Given the description of an element on the screen output the (x, y) to click on. 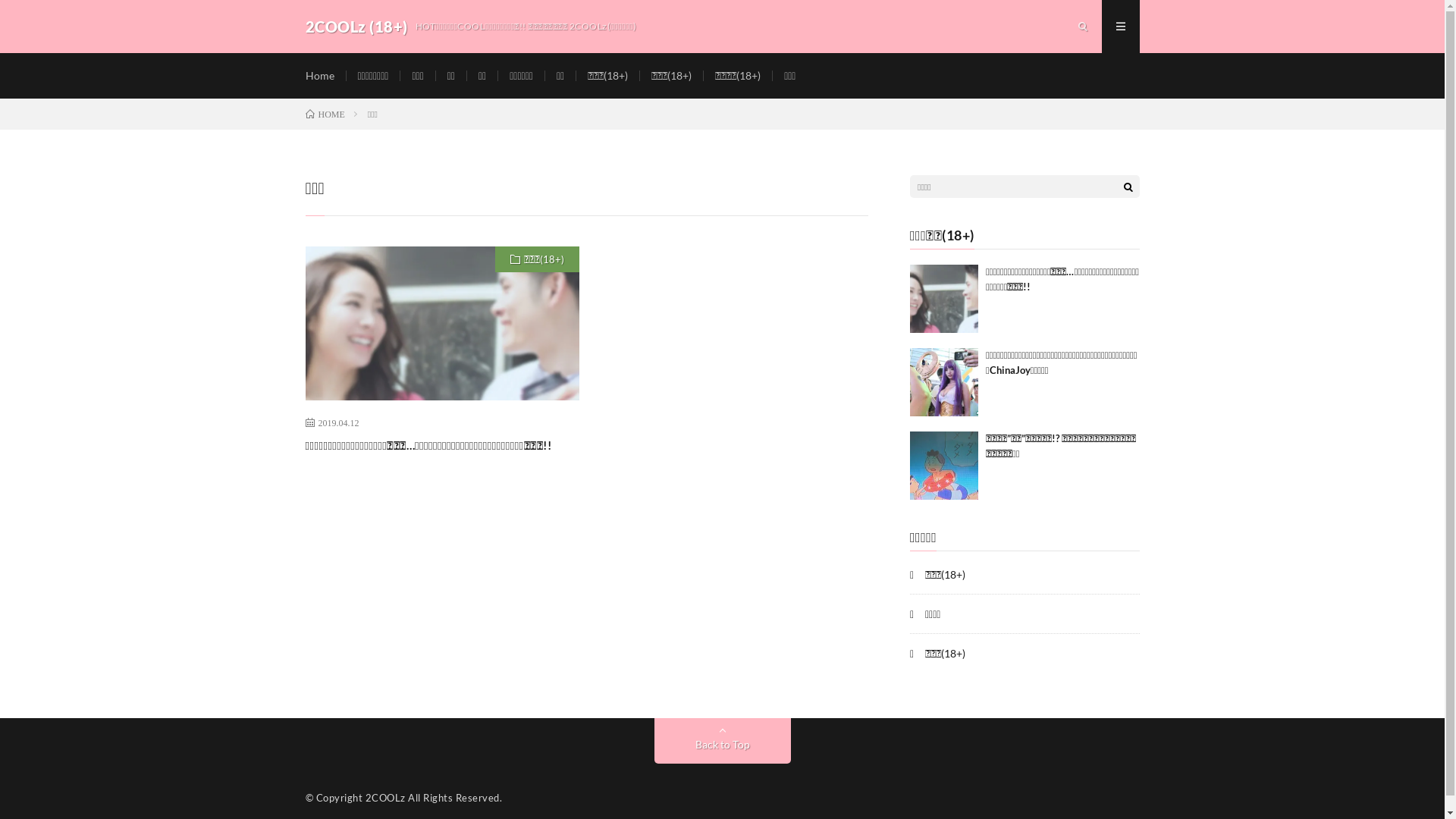
2COOLz Element type: text (385, 797)
HOME Element type: text (324, 113)
Back to Top Element type: text (721, 740)
Home Element type: text (318, 75)
search Element type: text (1127, 186)
2COOLz (18+) Element type: text (355, 26)
